Given the description of an element on the screen output the (x, y) to click on. 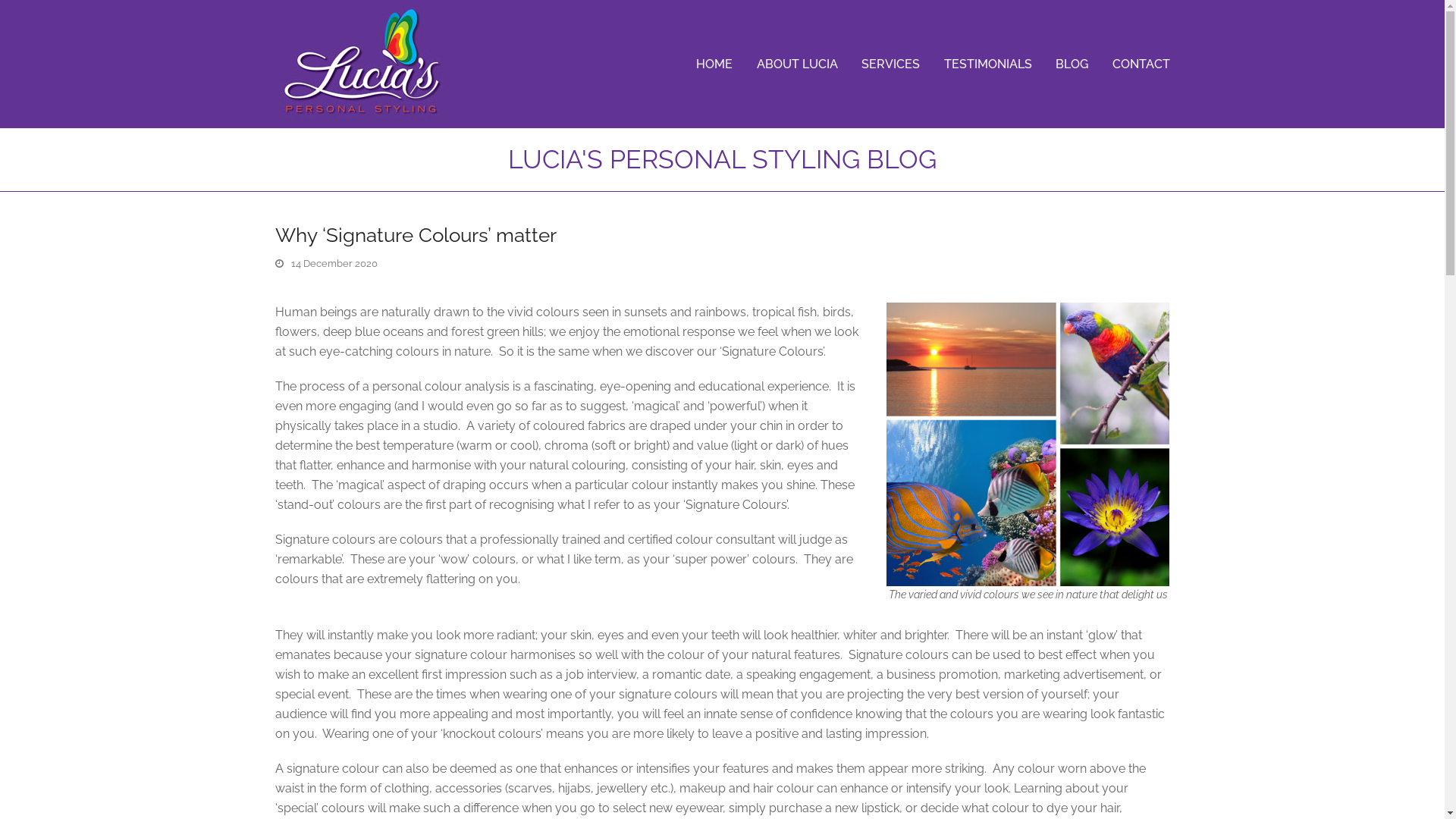
CONTACT Element type: text (1140, 64)
HOME Element type: text (714, 64)
TESTIMONIALS Element type: text (987, 64)
SERVICES Element type: text (890, 64)
BLOG Element type: text (1071, 64)
ABOUT LUCIA Element type: text (796, 64)
